Given the description of an element on the screen output the (x, y) to click on. 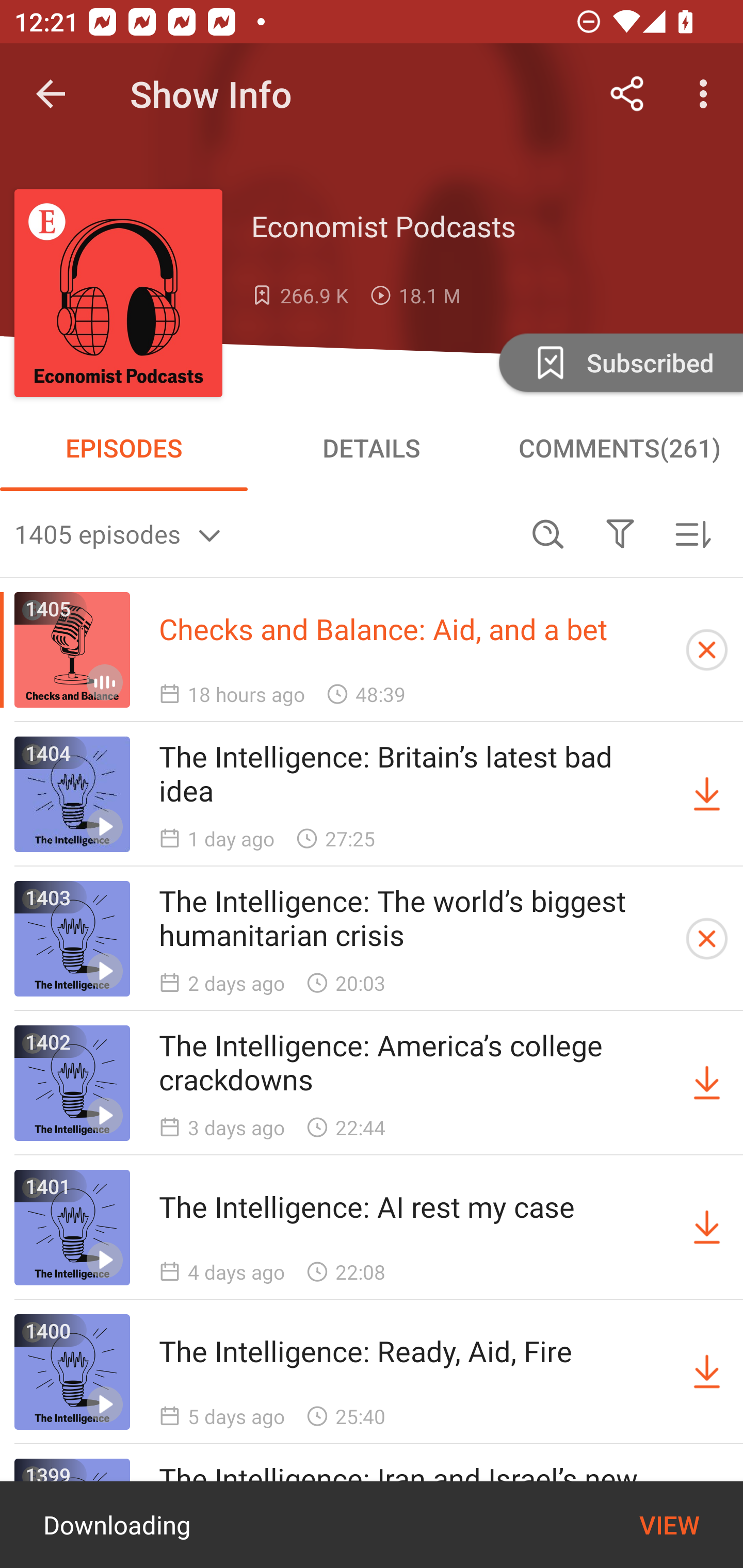
Navigate up (50, 93)
Share (626, 93)
More options (706, 93)
Unsubscribe Subscribed (619, 361)
EPISODES (123, 447)
DETAILS (371, 447)
COMMENTS(261) (619, 447)
1405 episodes  (262, 533)
 Search (547, 533)
 (619, 533)
 Sorted by newest first (692, 533)
Cancel Downloading (706, 649)
Download (706, 793)
Cancel Downloading (706, 939)
Download (706, 1083)
Download (706, 1227)
Download (706, 1371)
VIEW (669, 1524)
